Given the description of an element on the screen output the (x, y) to click on. 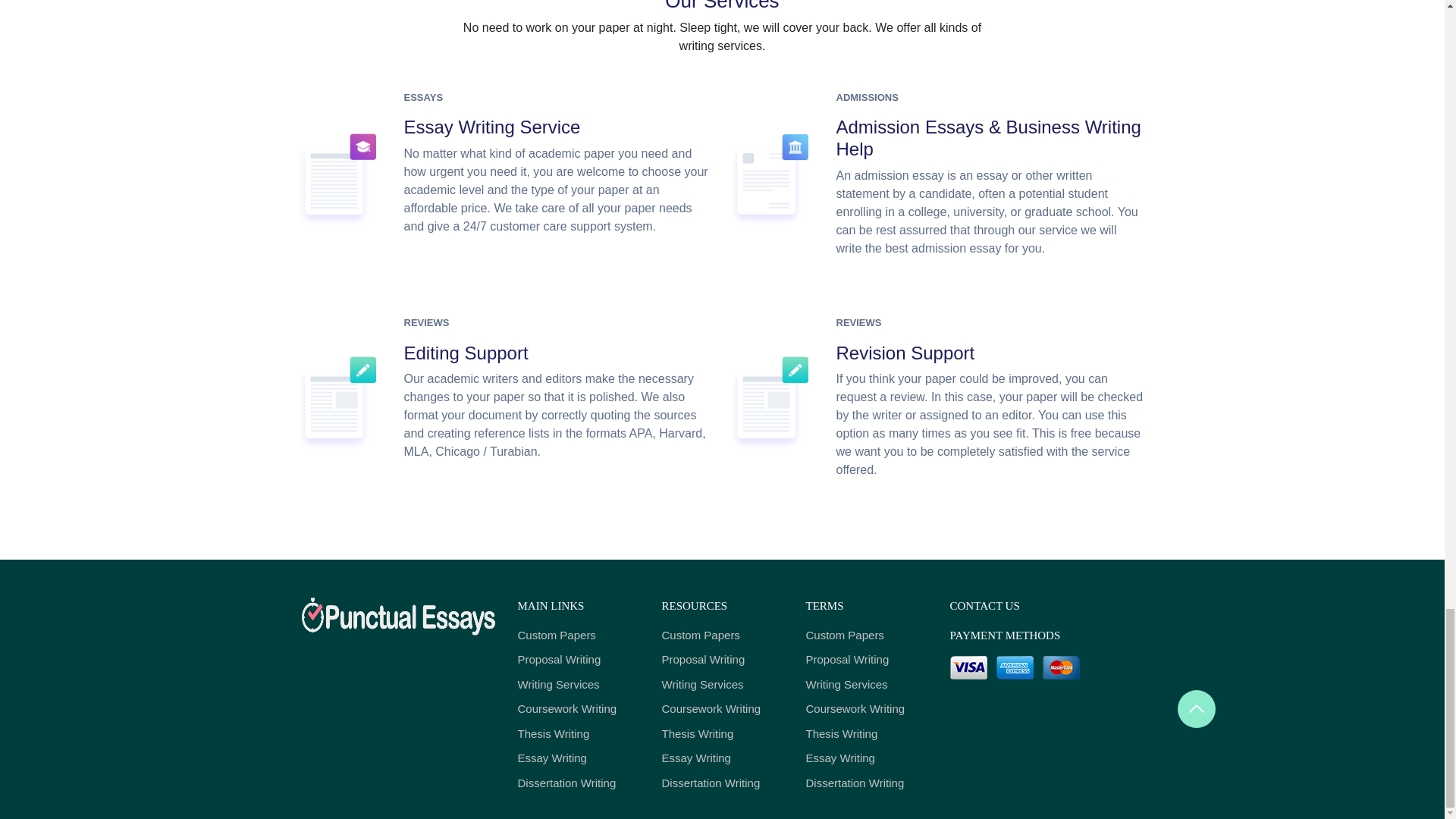
Writing Services (577, 684)
Proposal Writing (577, 660)
Essay Writing (577, 758)
Dissertation Writing (577, 783)
Coursework Writing (577, 709)
Custom Papers (577, 635)
Custom Papers (722, 635)
Thesis Writing (577, 733)
